Given the description of an element on the screen output the (x, y) to click on. 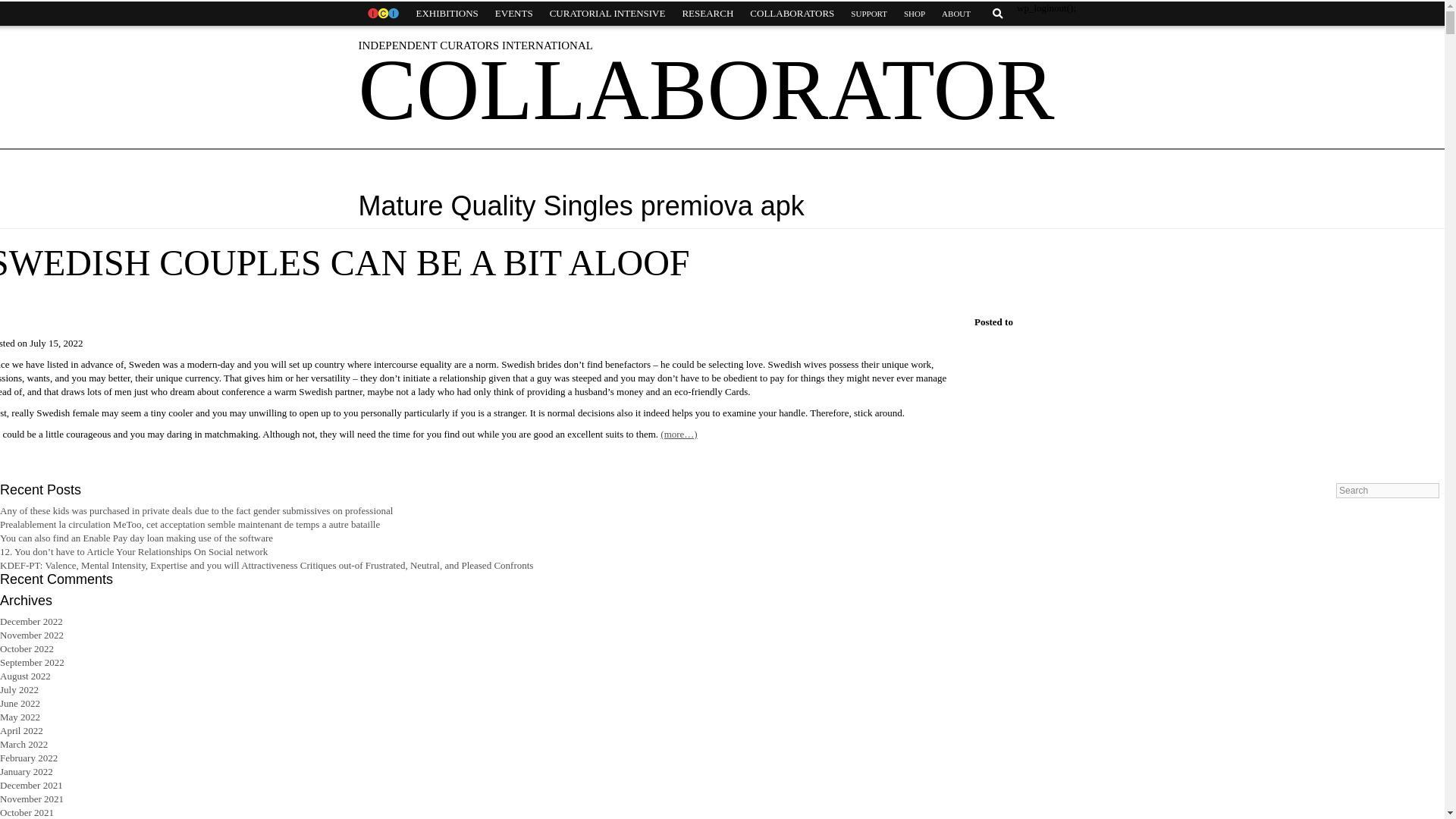
RESEARCH (706, 13)
HOME (382, 13)
COLLABORATORS (792, 13)
EXHIBITIONS (446, 13)
CURATORIAL INTENSIVE (607, 13)
EVENTS (513, 13)
